Given the description of an element on the screen output the (x, y) to click on. 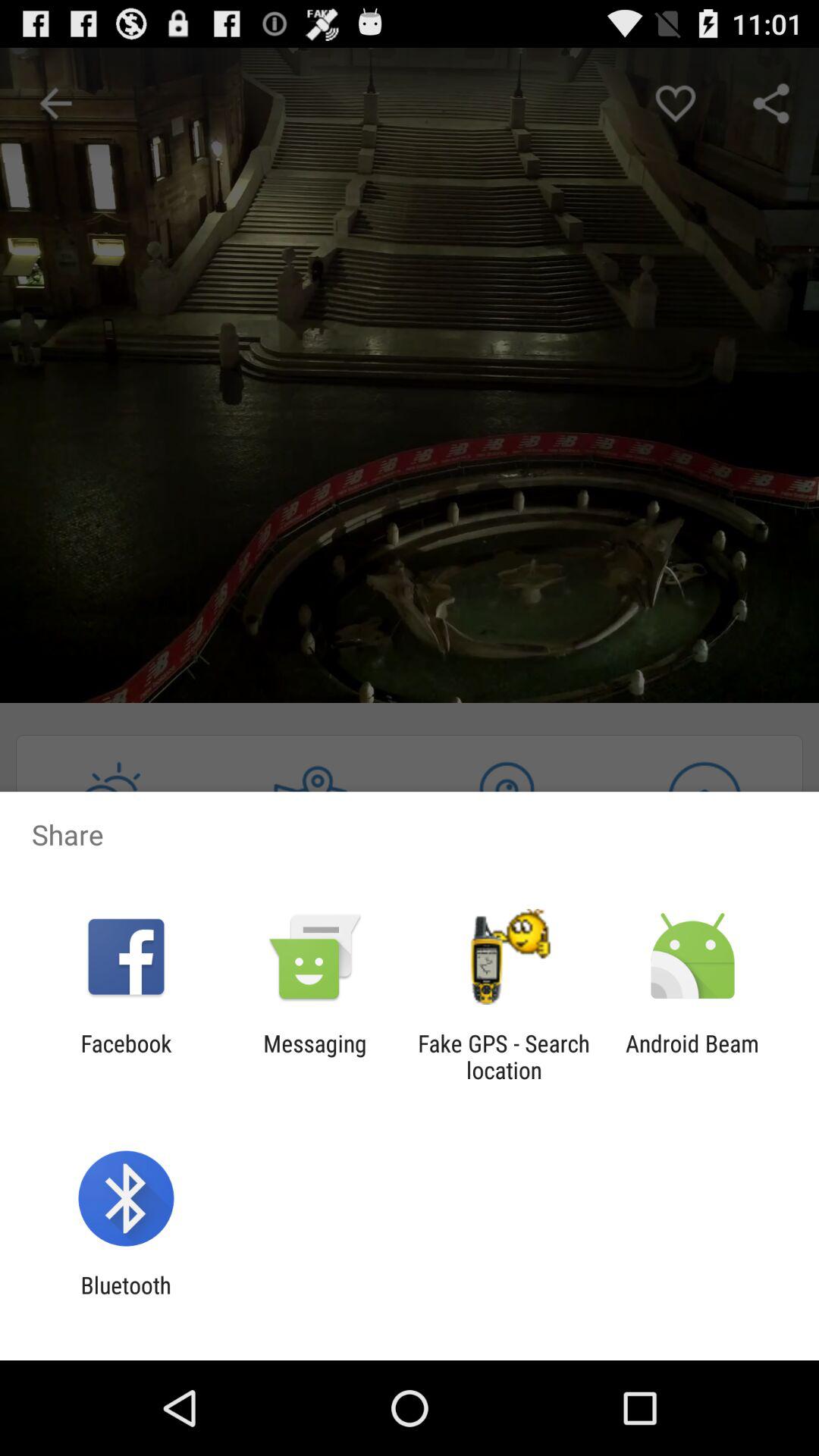
flip until messaging app (314, 1056)
